Given the description of an element on the screen output the (x, y) to click on. 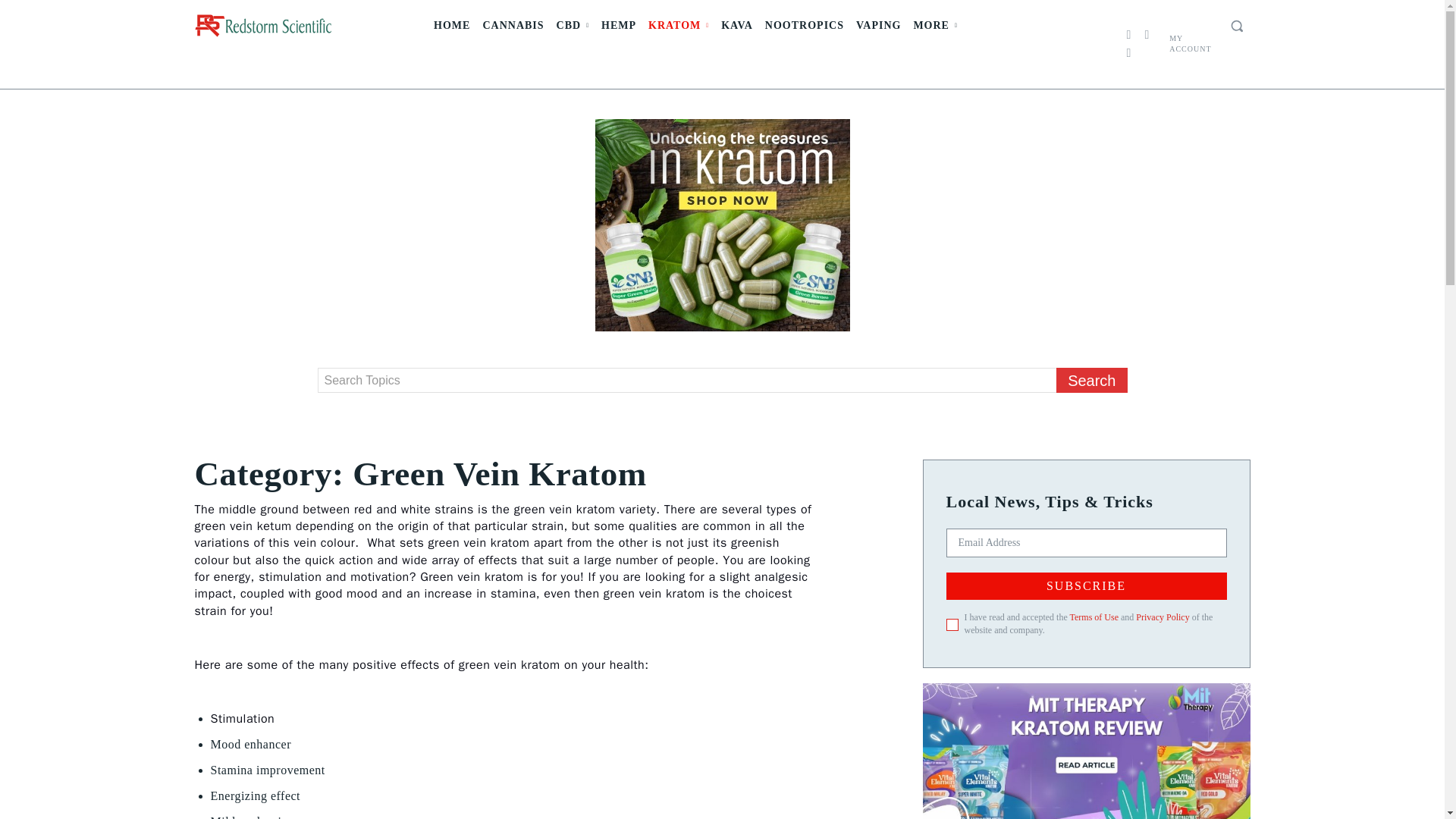
Instagram (1146, 34)
Twitter (1128, 53)
Facebook (1128, 34)
SNB Store (721, 224)
